Given the description of an element on the screen output the (x, y) to click on. 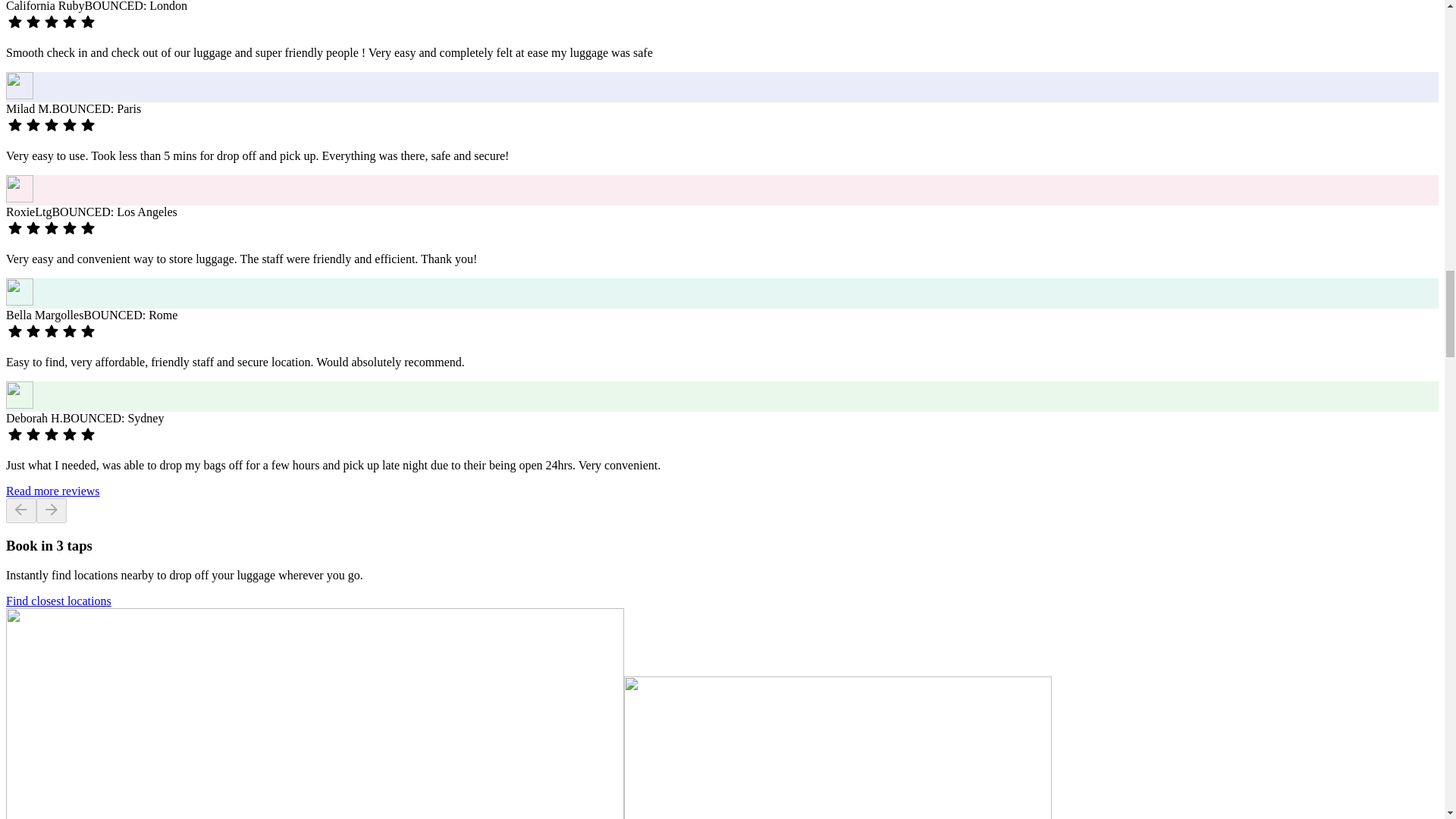
Read more reviews (52, 490)
Find closest locations (58, 600)
